Given the description of an element on the screen output the (x, y) to click on. 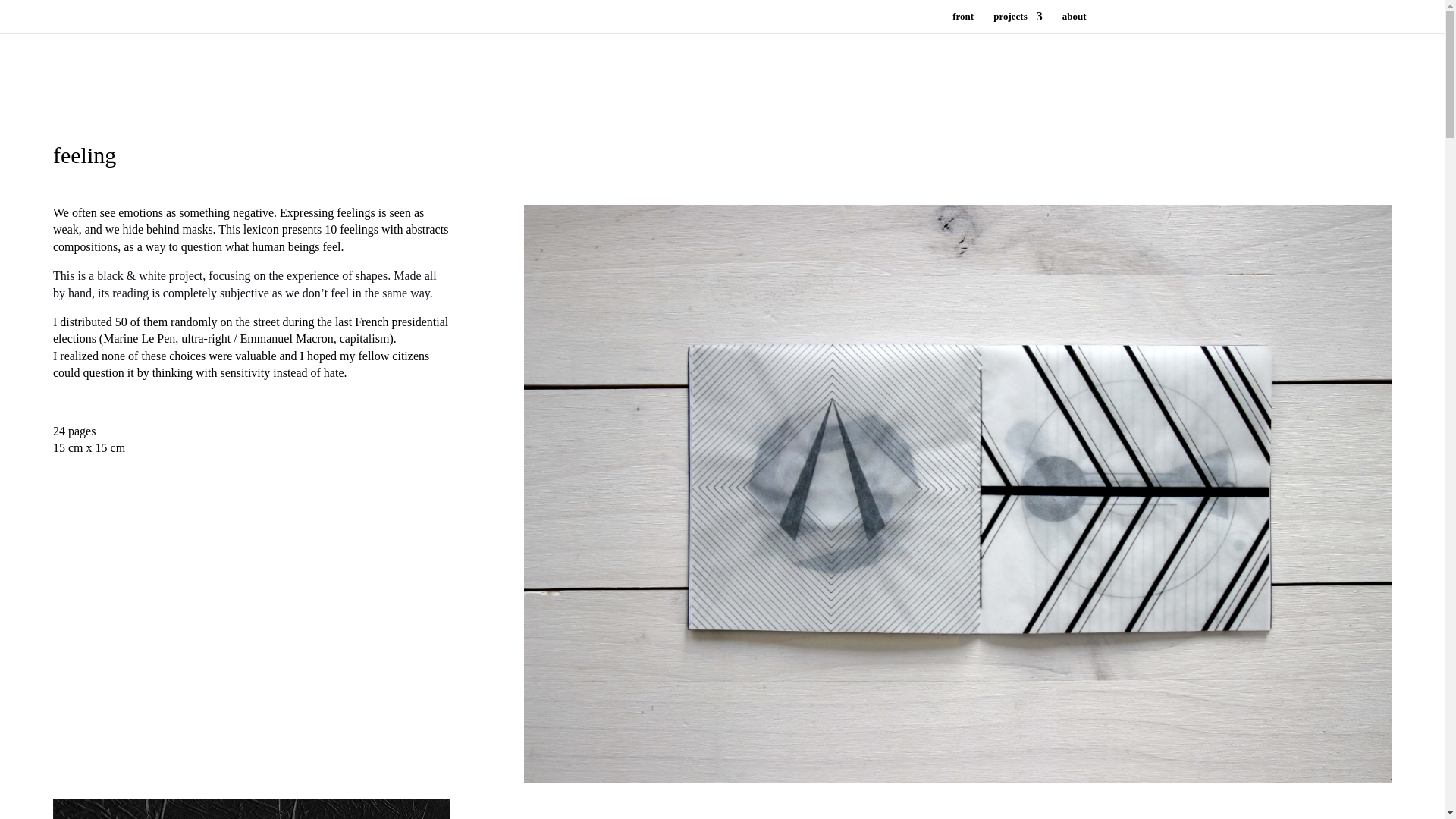
front (963, 22)
projects (1017, 22)
about (1074, 22)
